Given the description of an element on the screen output the (x, y) to click on. 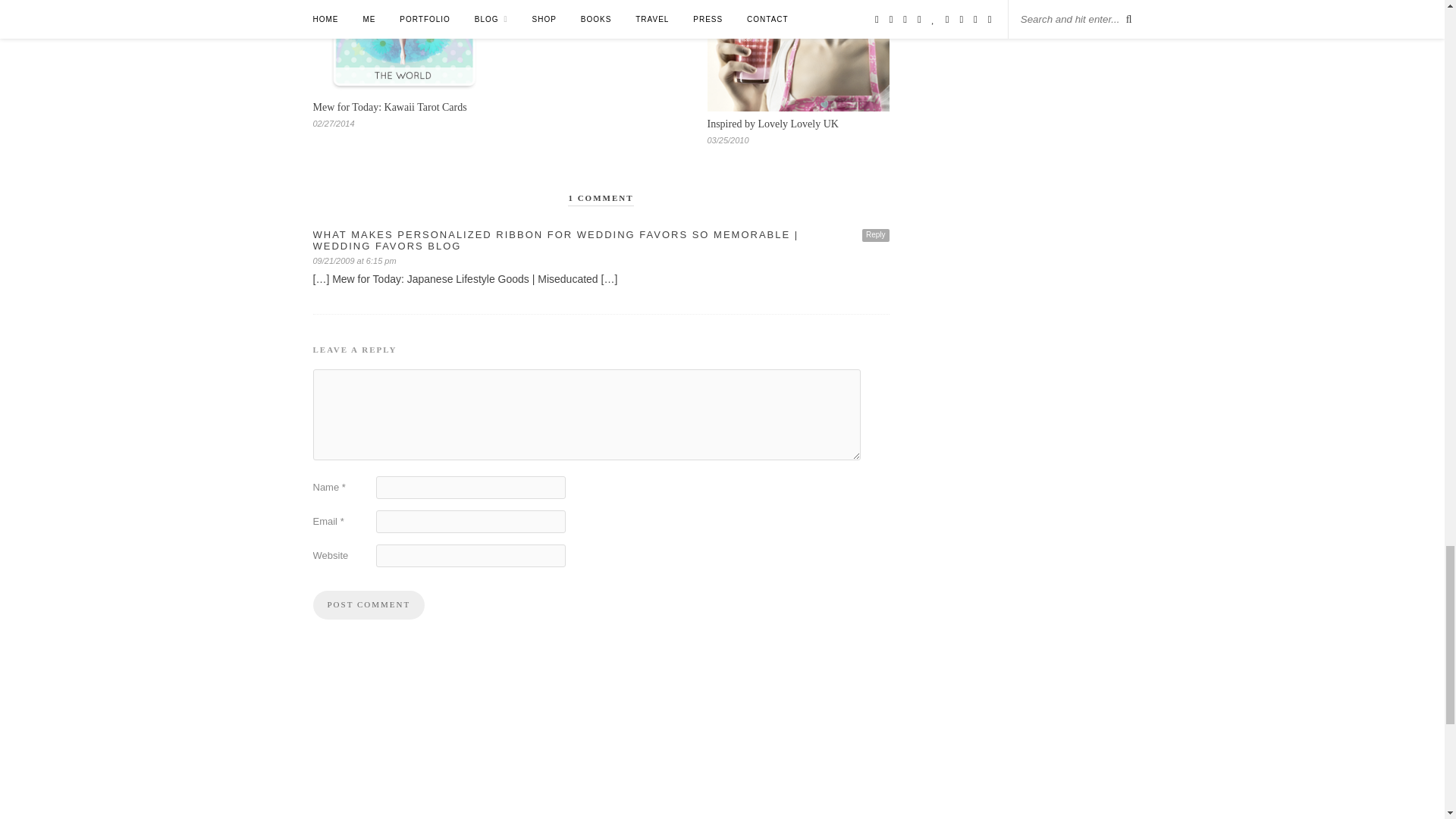
Post Comment (369, 604)
Advertisement (600, 747)
